Given the description of an element on the screen output the (x, y) to click on. 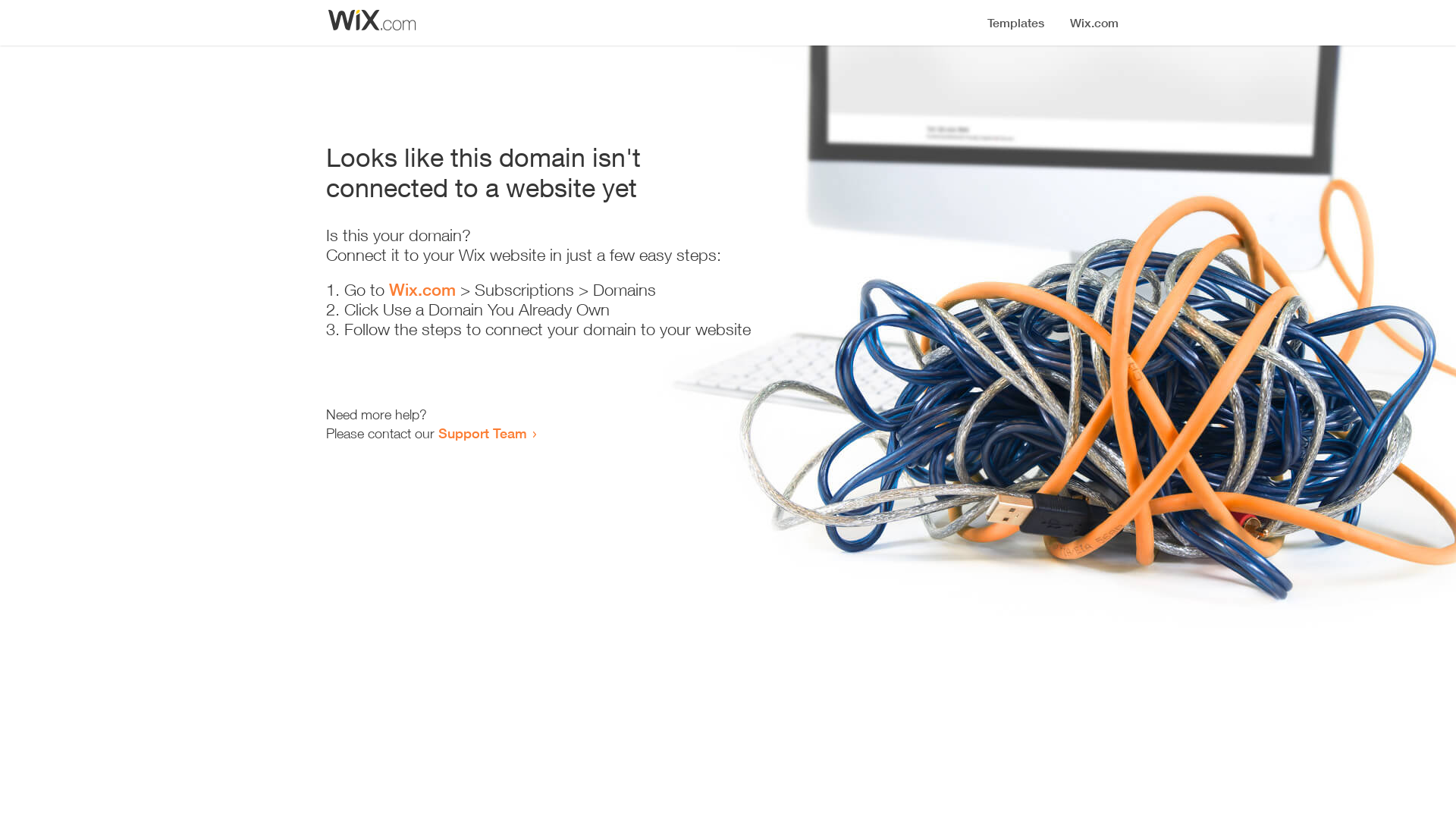
Wix.com Element type: text (422, 289)
Support Team Element type: text (482, 432)
